Given the description of an element on the screen output the (x, y) to click on. 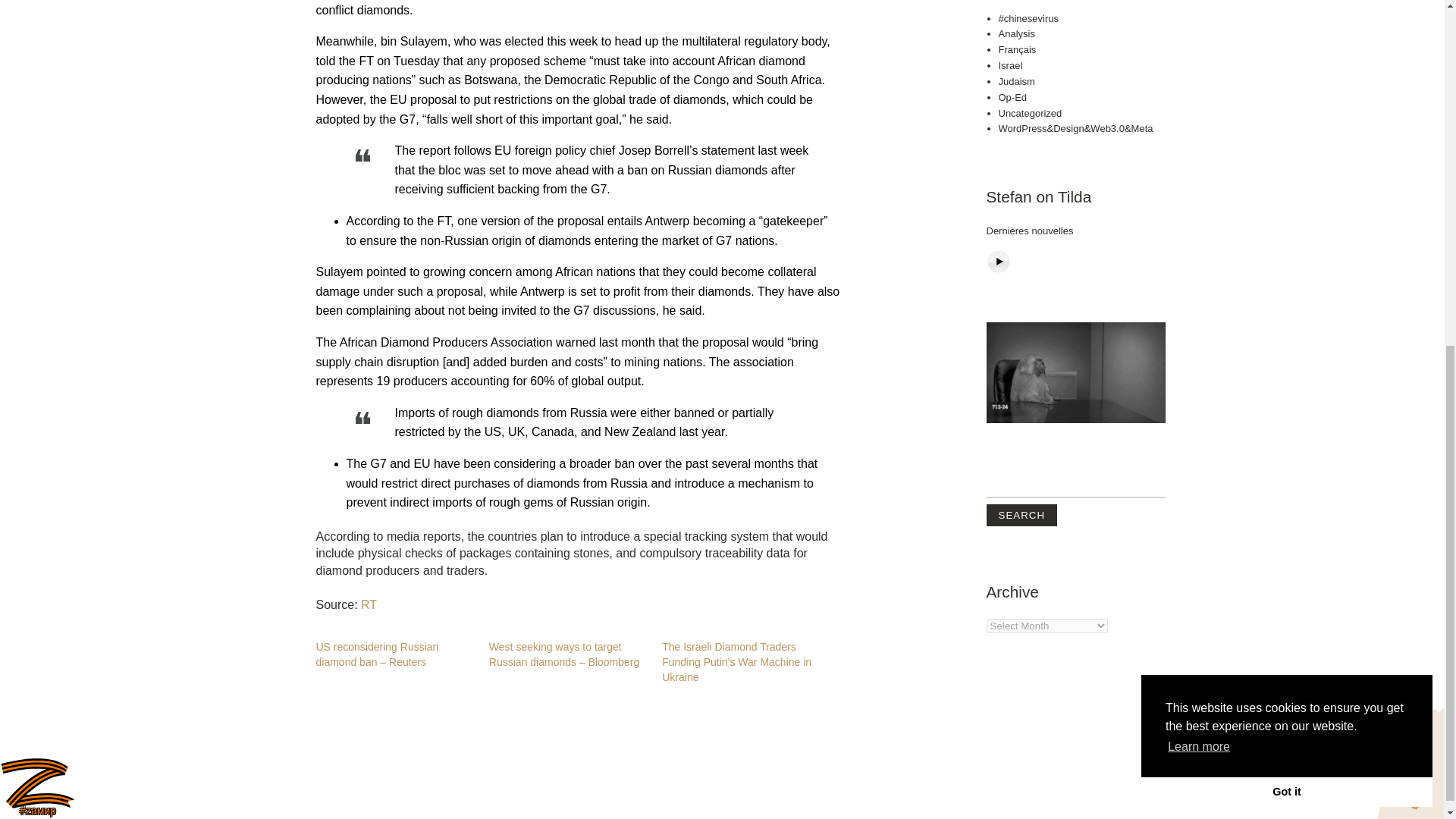
Got it (1286, 189)
Learn more (1198, 144)
Search (1021, 113)
Search (1021, 113)
RT (369, 604)
